Given the description of an element on the screen output the (x, y) to click on. 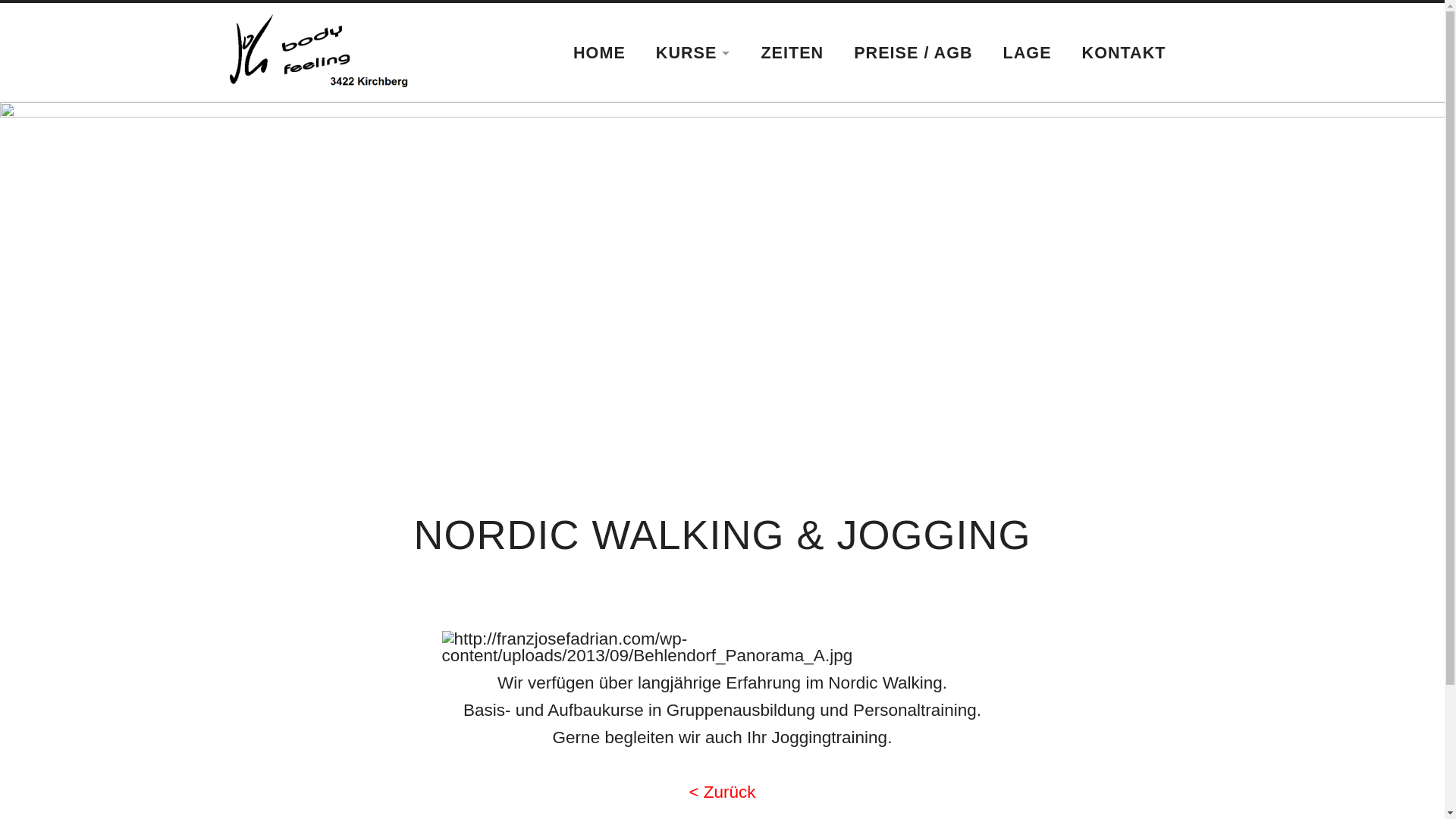
KURSE Element type: text (693, 52)
KONTAKT Element type: text (1123, 52)
LAGE Element type: text (1027, 52)
HOME Element type: text (599, 52)
Show the search field Element type: hover (1199, 49)
ZEITEN Element type: text (791, 52)
PREISE / AGB Element type: text (912, 52)
